Given the description of an element on the screen output the (x, y) to click on. 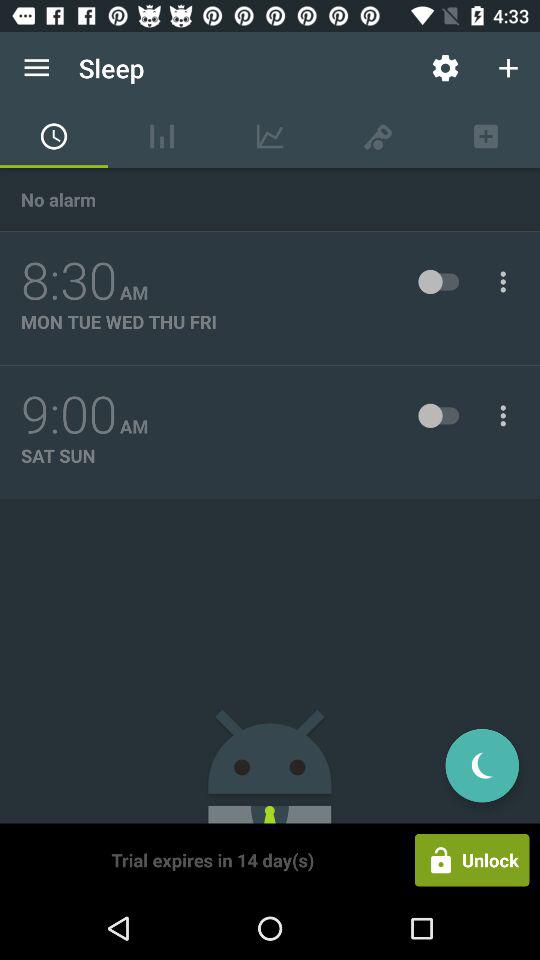
launch the icon to the left of the am icon (69, 281)
